Given the description of an element on the screen output the (x, y) to click on. 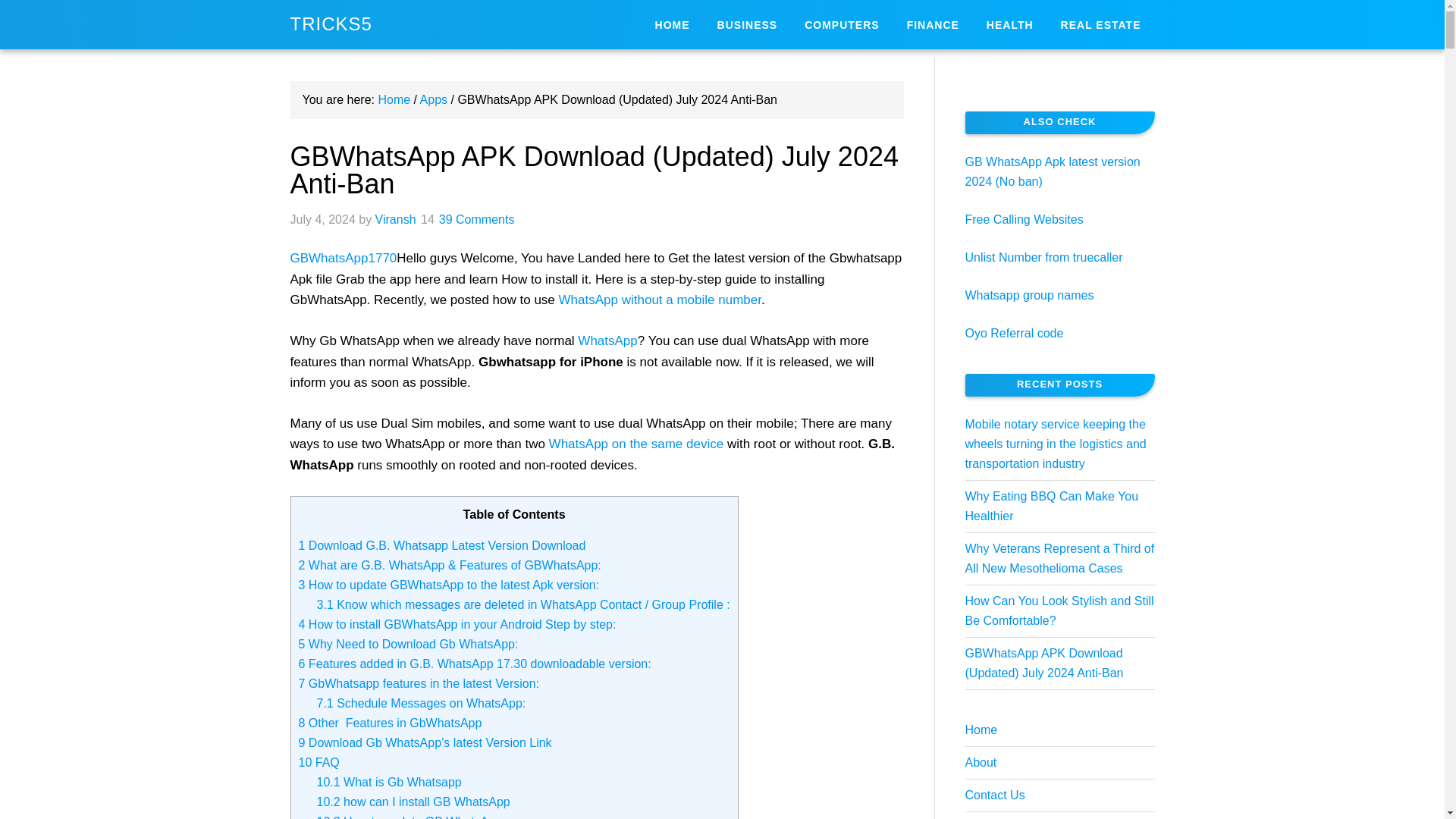
WhatsApp (607, 340)
39 Comments (477, 219)
8 Other  Features in GbWhatsApp (389, 722)
WhatsApp without a mobile number (660, 299)
Home (393, 99)
10.3 How to update GB WhatsApp (409, 816)
7.1 Schedule Messages on WhatsApp: (421, 703)
HOME (672, 24)
REAL ESTATE (1100, 24)
